Given the description of an element on the screen output the (x, y) to click on. 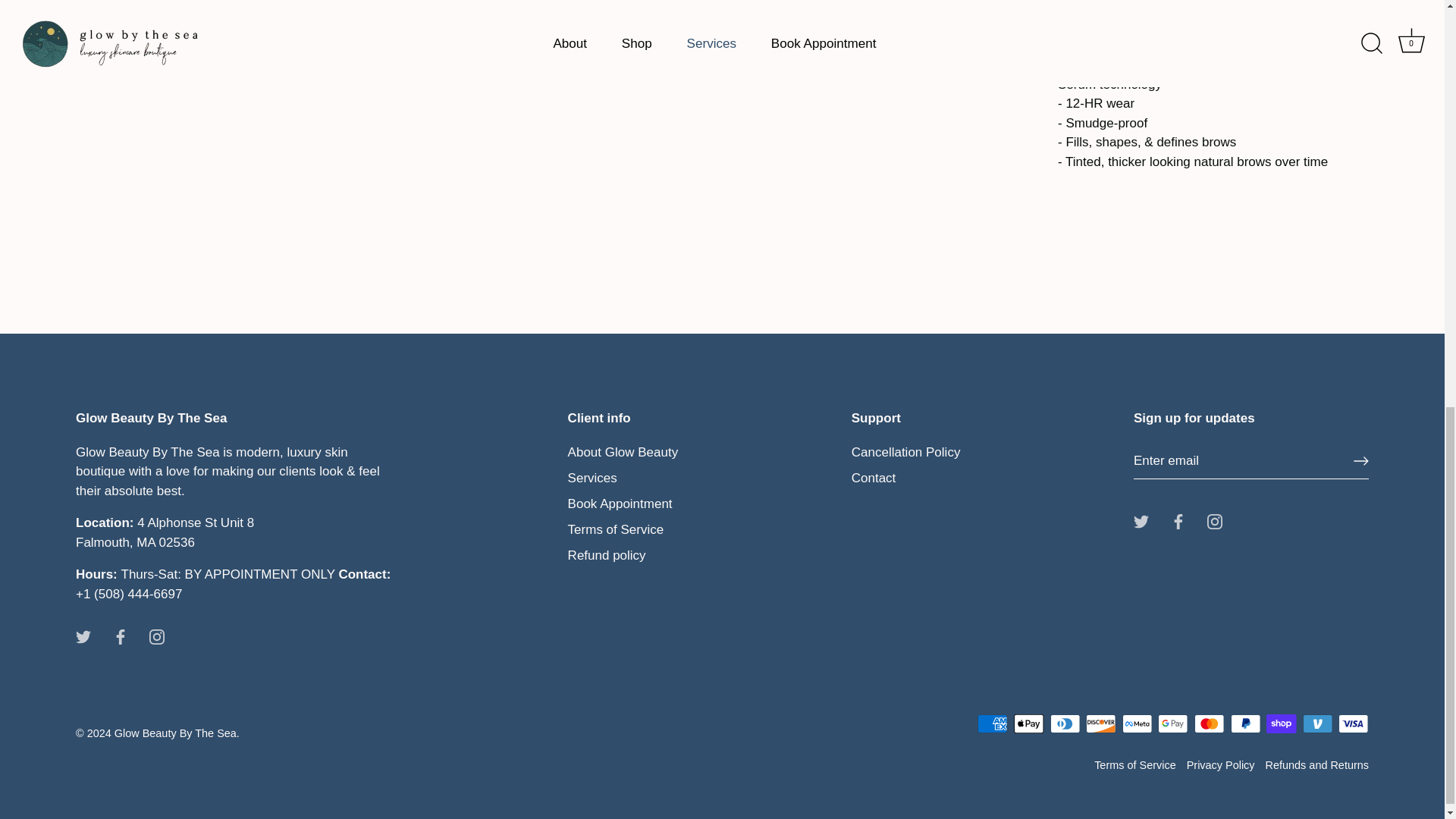
Diners Club (1064, 723)
American Express (991, 723)
Terms of Service (615, 529)
Twitter (1141, 521)
Services (592, 477)
Instagram (156, 636)
Shop Pay (1280, 723)
RIGHT ARROW LONG (1361, 460)
Refund policy (606, 554)
Meta Pay (1136, 723)
Venmo (1317, 723)
Apple Pay (1028, 723)
Terms of Service (1135, 765)
Visa (1353, 723)
Mastercard (1208, 723)
